Given the description of an element on the screen output the (x, y) to click on. 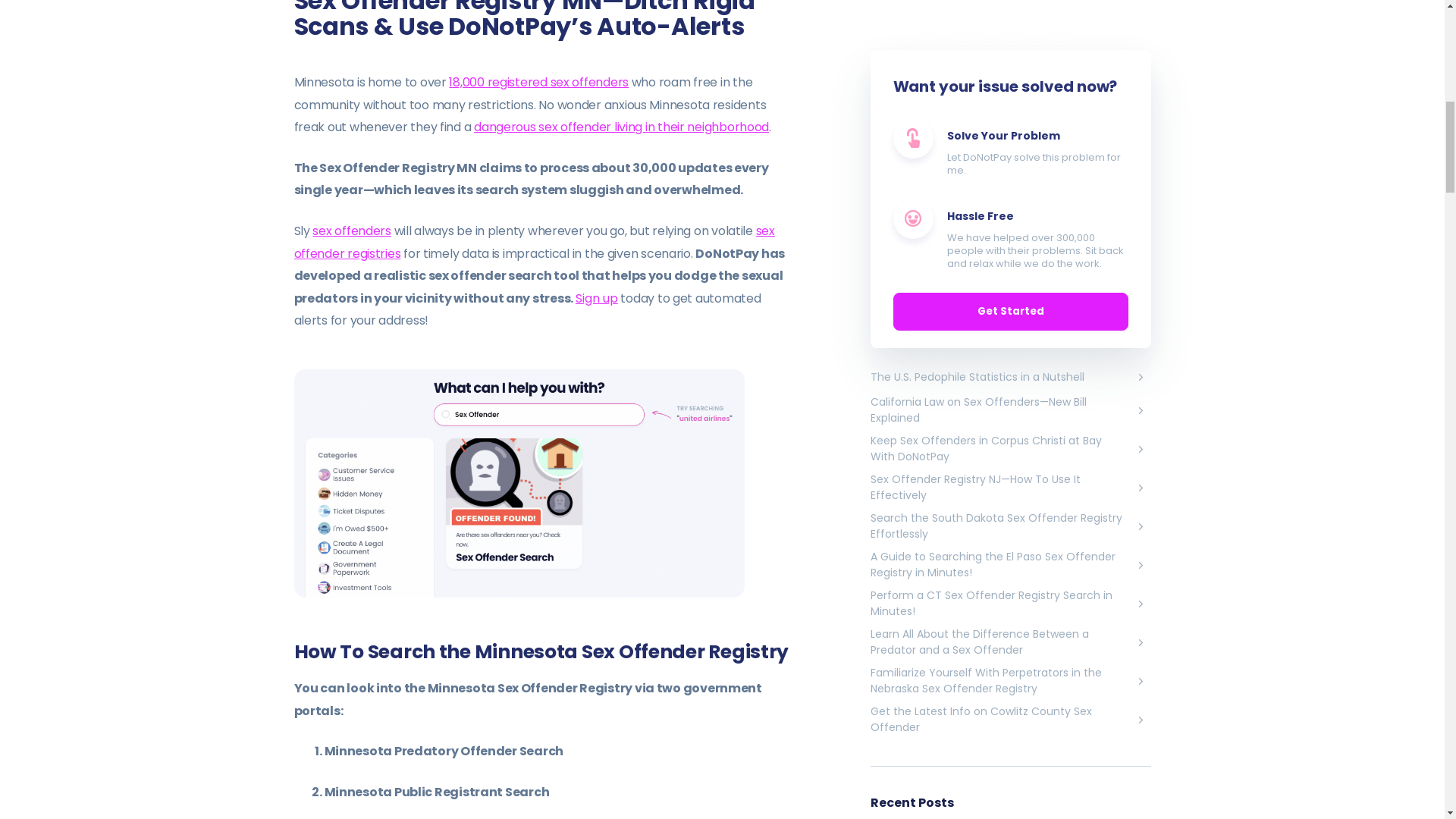
sex offender registries (534, 241)
sex offenders (351, 230)
dangerous sex offender living in their neighborhood (621, 126)
18,000 registered sex offenders (538, 81)
Sign up (596, 298)
